Given the description of an element on the screen output the (x, y) to click on. 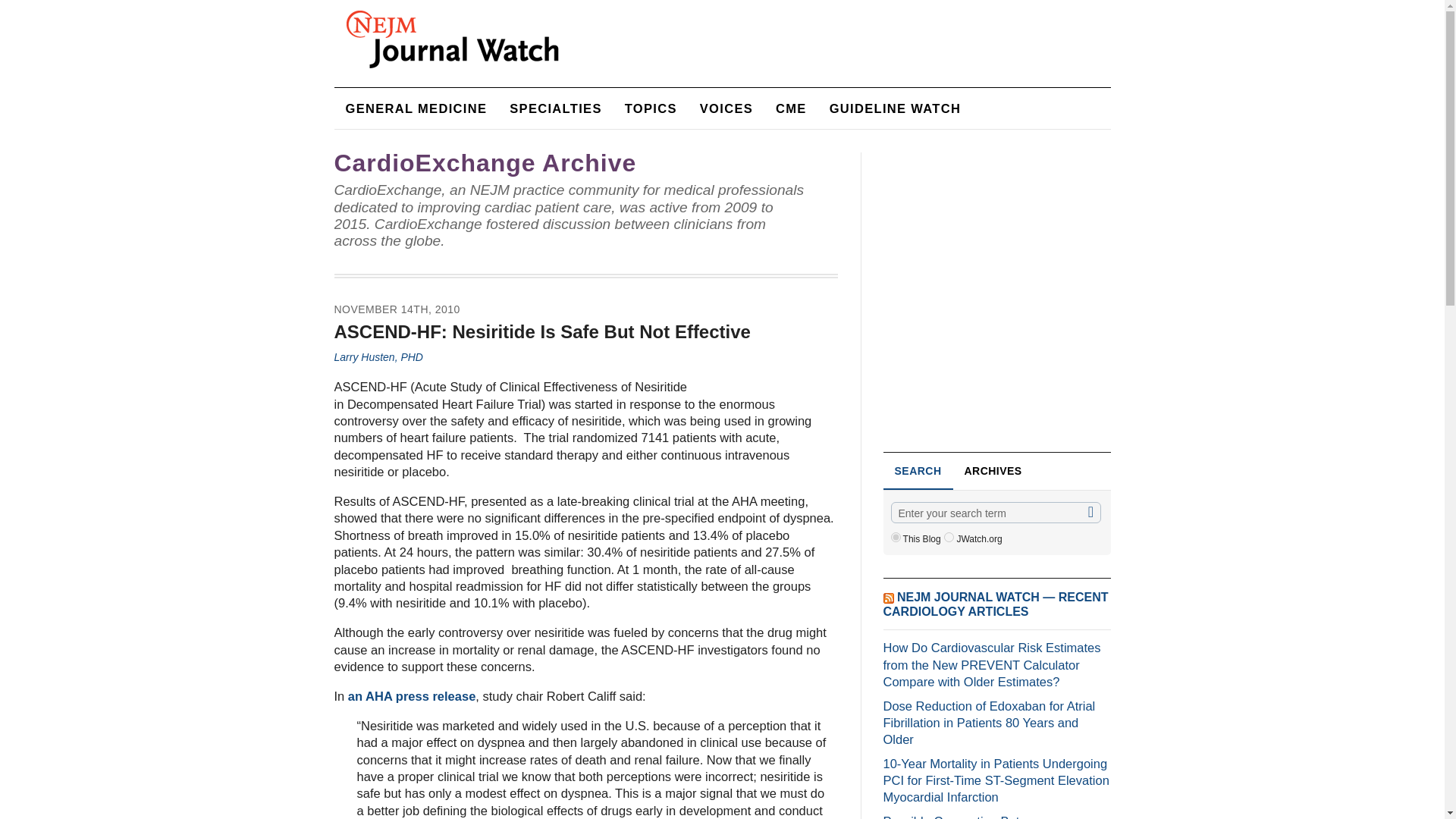
This Blog (894, 537)
SPECIALTIES (554, 107)
JWatch.org (948, 537)
GENERAL MEDICINE (415, 107)
CardioExchange Archive (484, 162)
Larry Husten, PHD (377, 357)
GUIDELINE WATCH (895, 107)
Posts by Larry Husten, PHD (377, 357)
TOPICS (650, 107)
Enter your search term (994, 512)
an AHA press release (411, 695)
VOICES (726, 107)
CME (791, 107)
CardioExchange Archive: Permalink (484, 162)
